Given the description of an element on the screen output the (x, y) to click on. 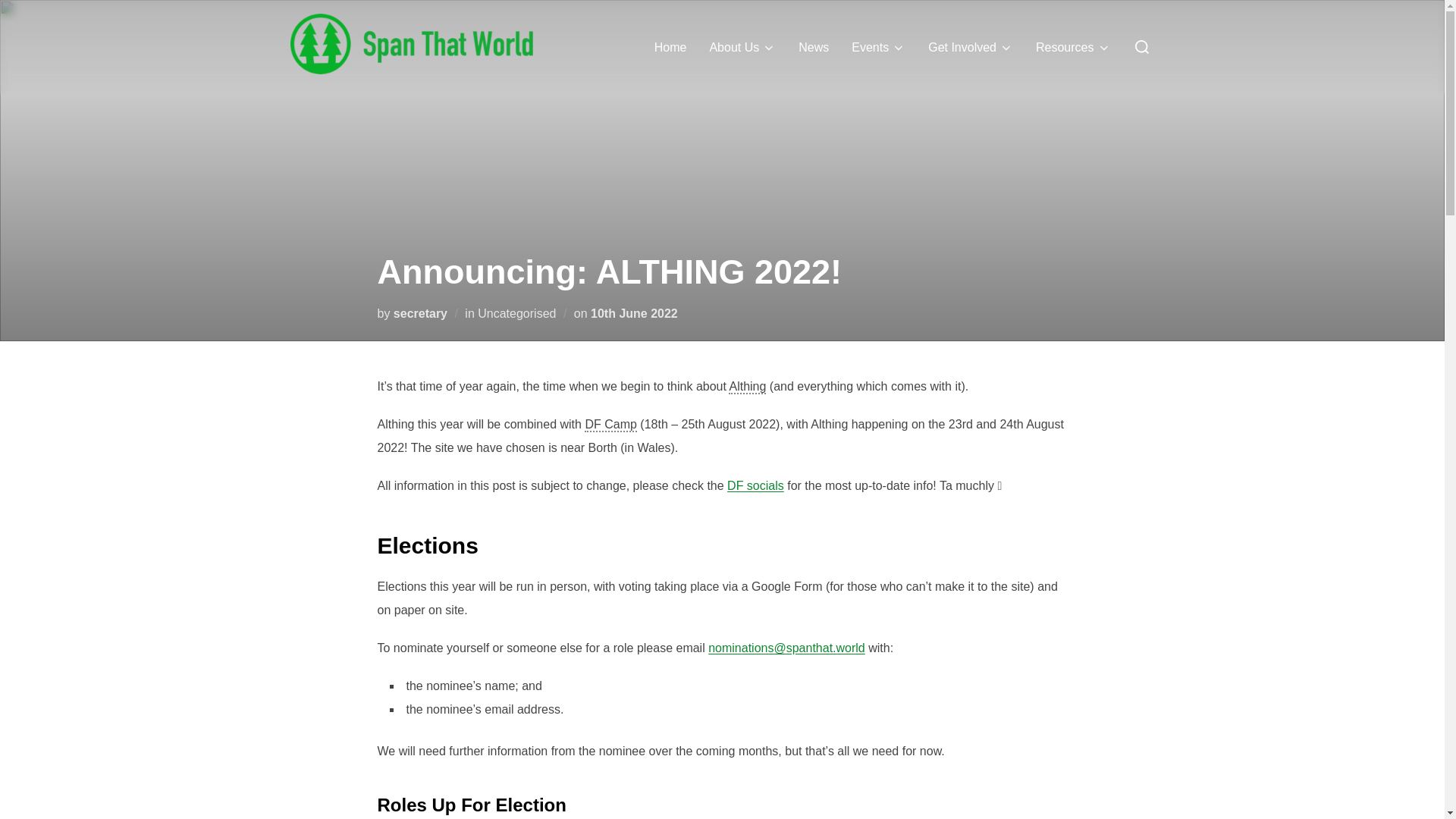
About Us (742, 47)
Home (670, 47)
Events (878, 47)
Resources (1072, 47)
Get Involved (970, 47)
News (812, 47)
